Given the description of an element on the screen output the (x, y) to click on. 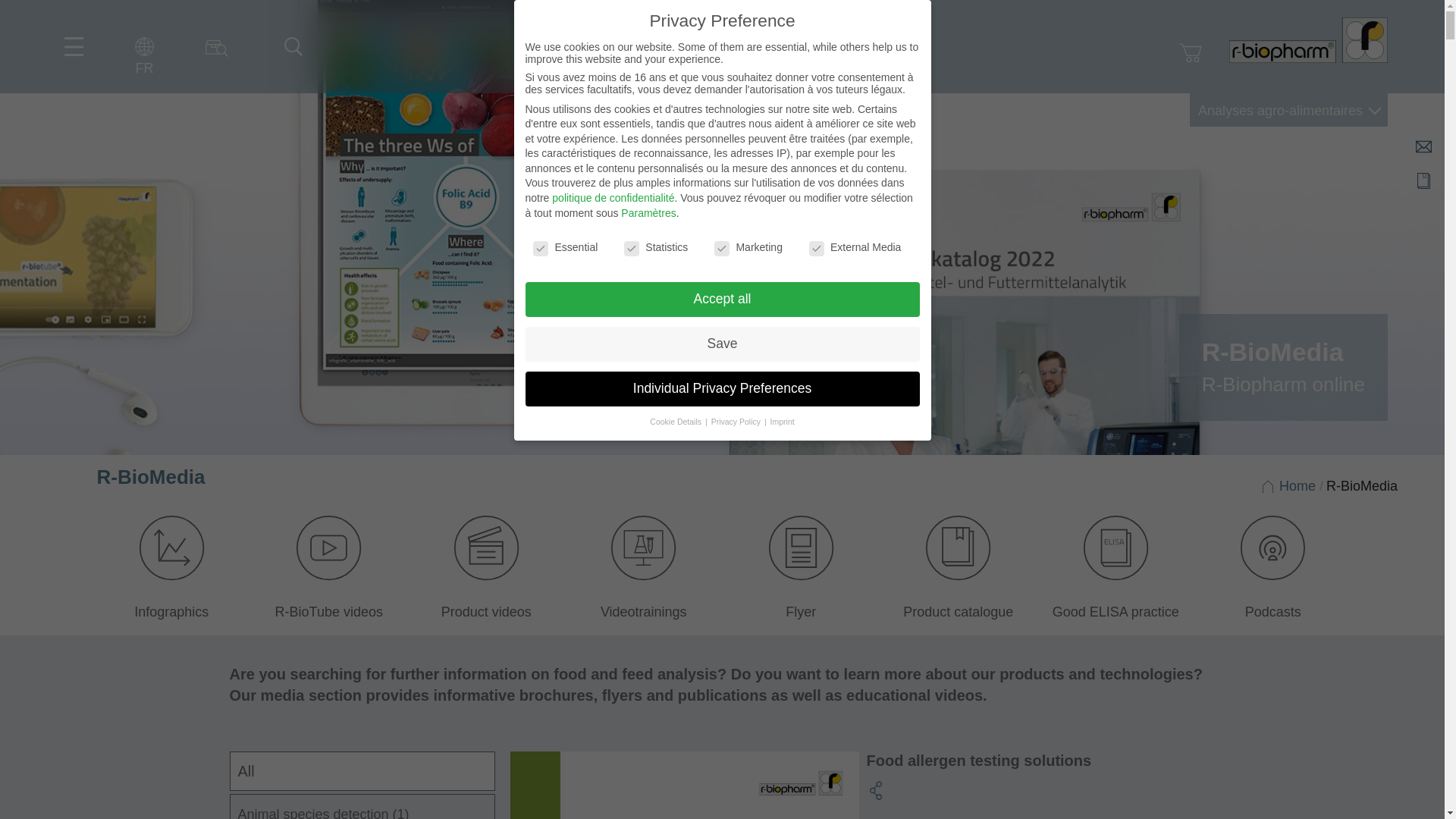
Recherche pour : (288, 40)
Go to R-Biopharm Webshop (1190, 52)
Analyses agro-alimentaires (1288, 109)
